Given the description of an element on the screen output the (x, y) to click on. 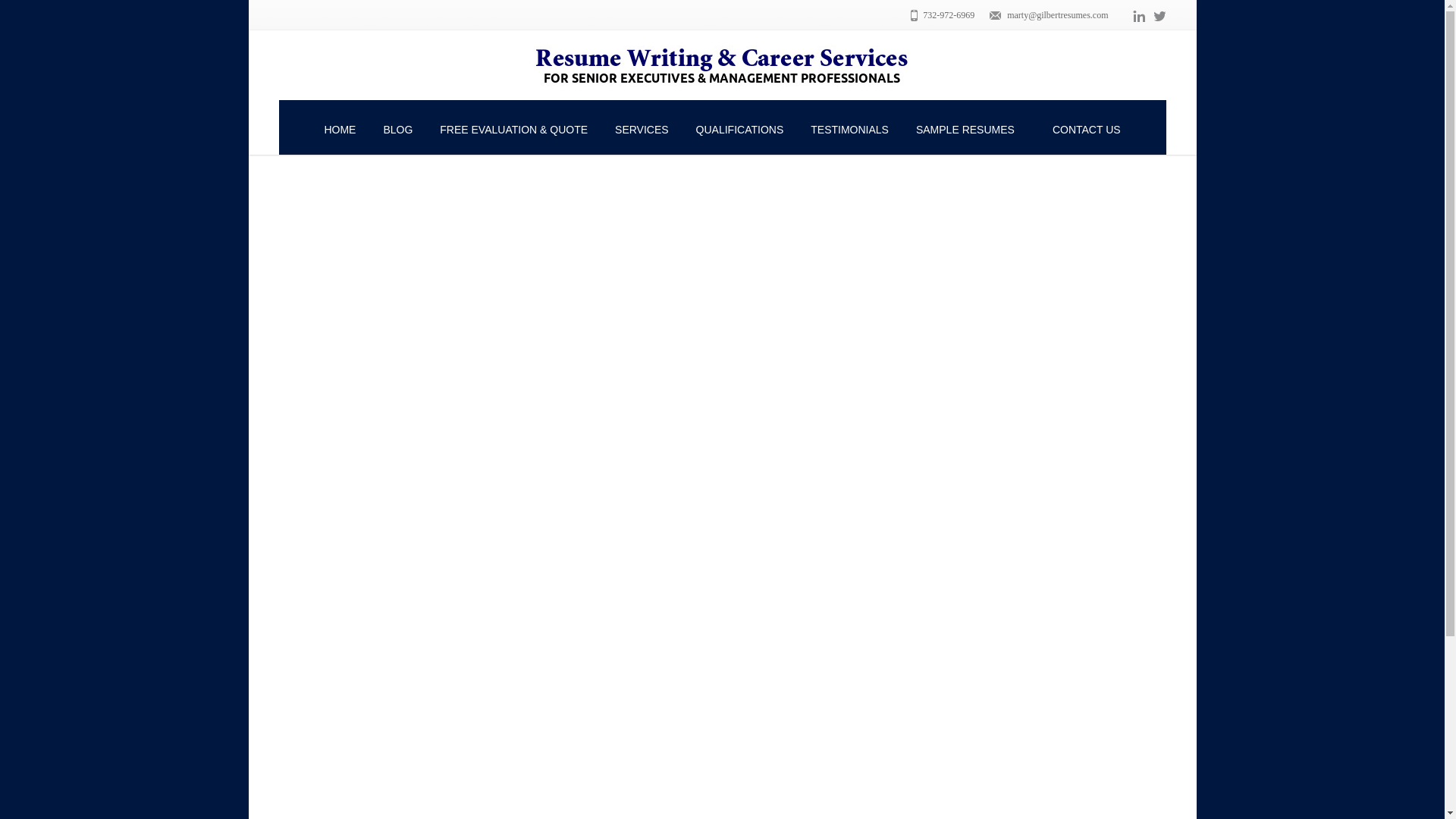
twitter (1160, 15)
HOME (339, 126)
BLOG (398, 126)
Marty Weitzman on LinkedIn (1138, 15)
QUALIFICATIONS (740, 126)
SERVICES (641, 126)
Marty Weitzman on Twitter (1160, 15)
linkedin (1138, 15)
CONTACT US (1086, 126)
TESTIMONIALS (849, 126)
